Given the description of an element on the screen output the (x, y) to click on. 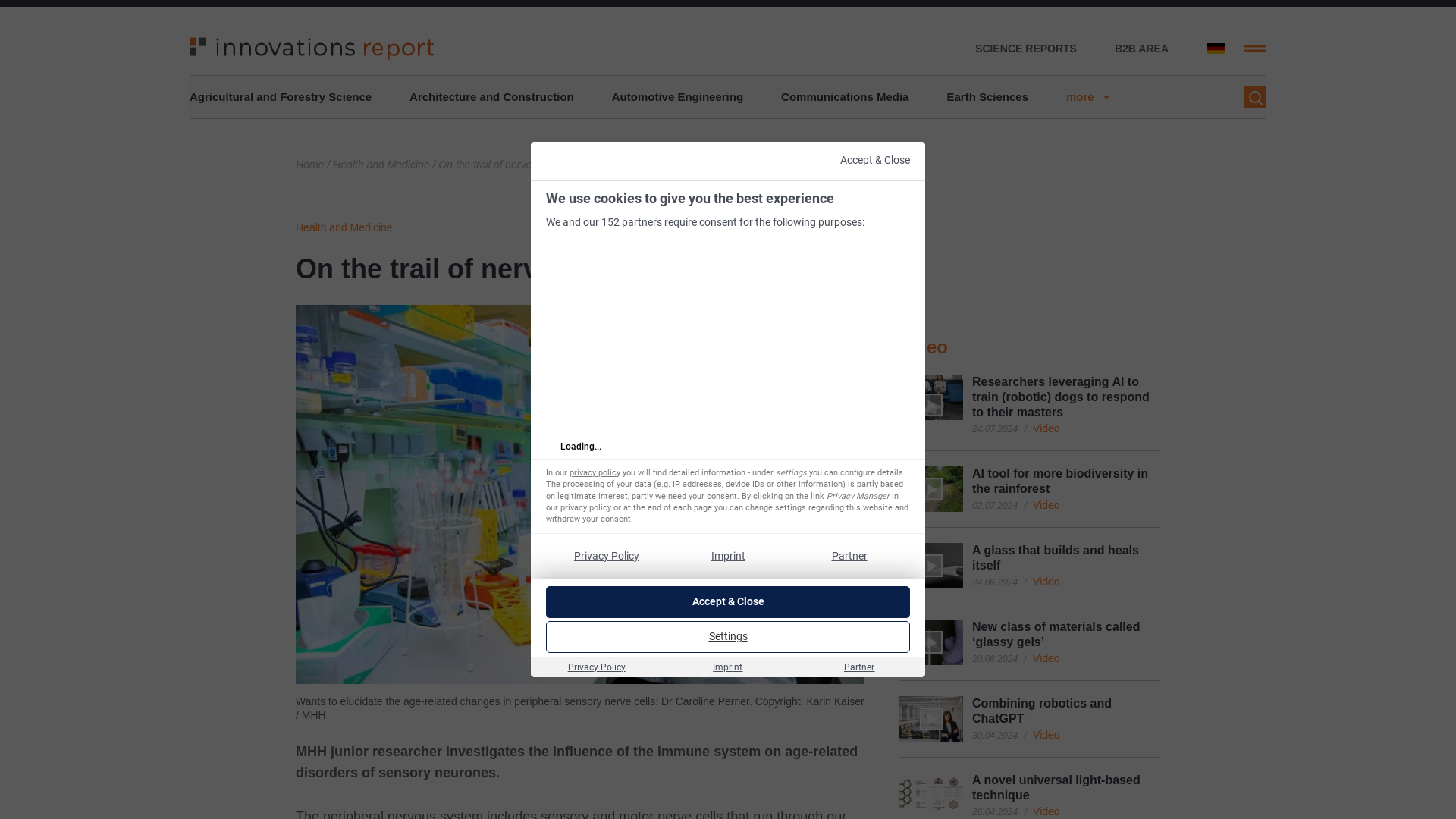
Agricultural and Forestry Science (280, 96)
Architecture and Construction (491, 96)
B2B AREA (1142, 48)
Earth Sciences (986, 96)
Automotive Engineering (676, 96)
Communications Media (844, 96)
SCIENCE REPORTS (1026, 48)
